Given the description of an element on the screen output the (x, y) to click on. 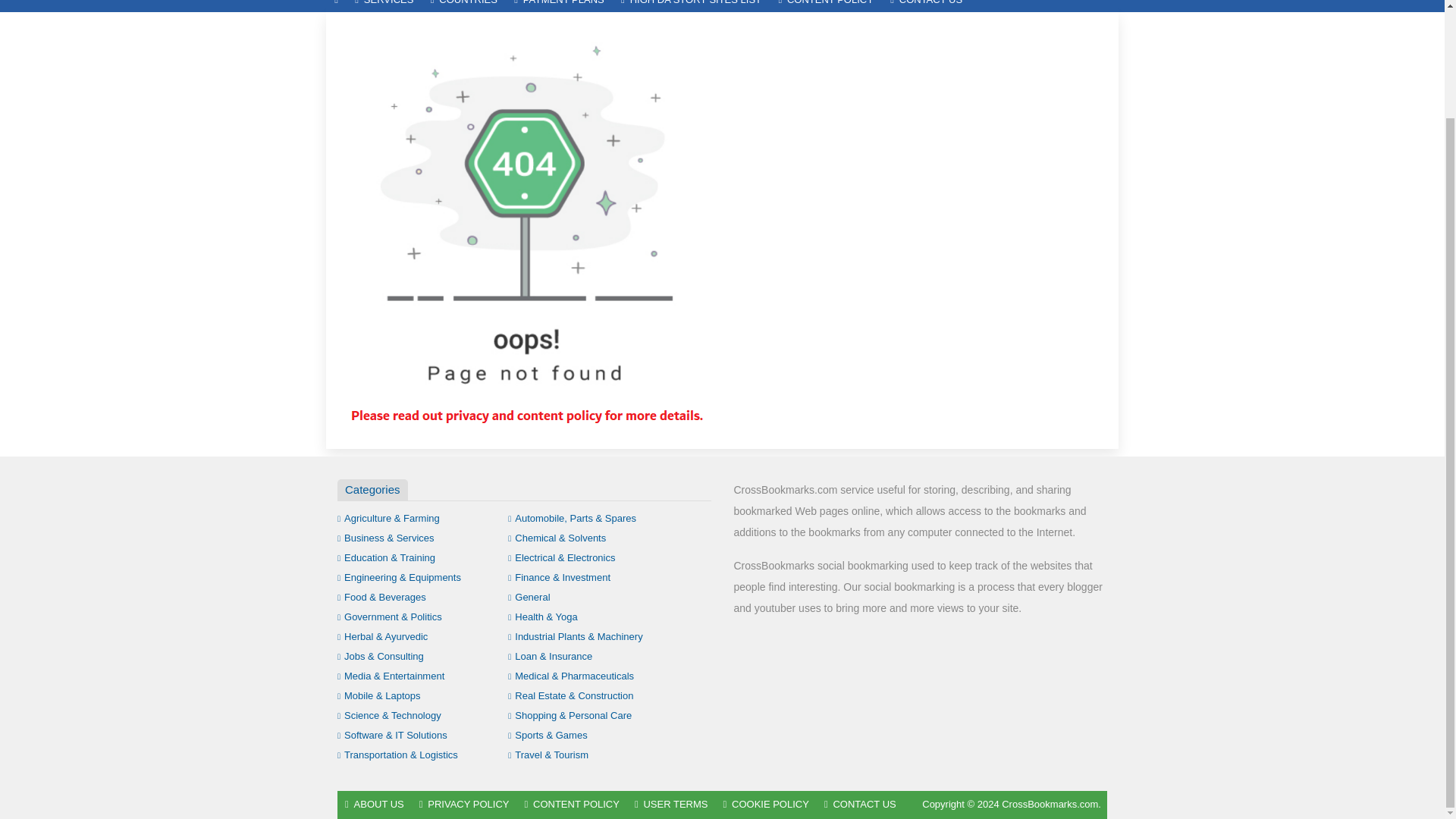
PAYMENT PLANS (558, 6)
General (529, 596)
SERVICES (384, 6)
CONTACT US (926, 6)
HOME (336, 6)
HIGH DA STORY SITES LIST (691, 6)
COUNTRIES (463, 6)
CONTENT POLICY (826, 6)
